Given the description of an element on the screen output the (x, y) to click on. 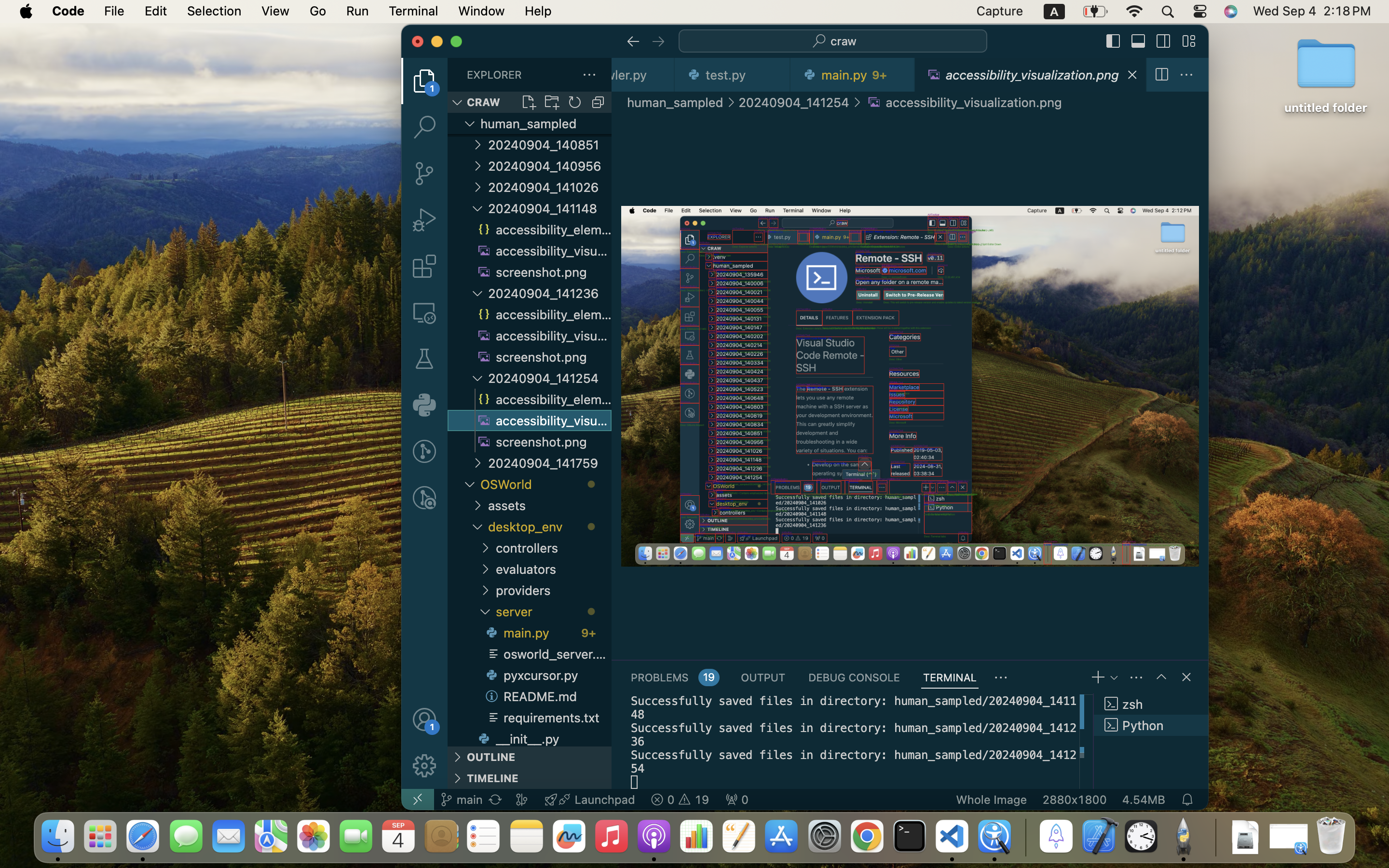
0 os_crawler.py  Element type: AXRadioButton (643, 74)
0  Element type: AXRadioButton (424, 312)
 Element type: AXCheckBox (1160, 676)
 Element type: AXButton (633, 41)
OUTLINE  Element type: AXButton (529, 756)
